Given the description of an element on the screen output the (x, y) to click on. 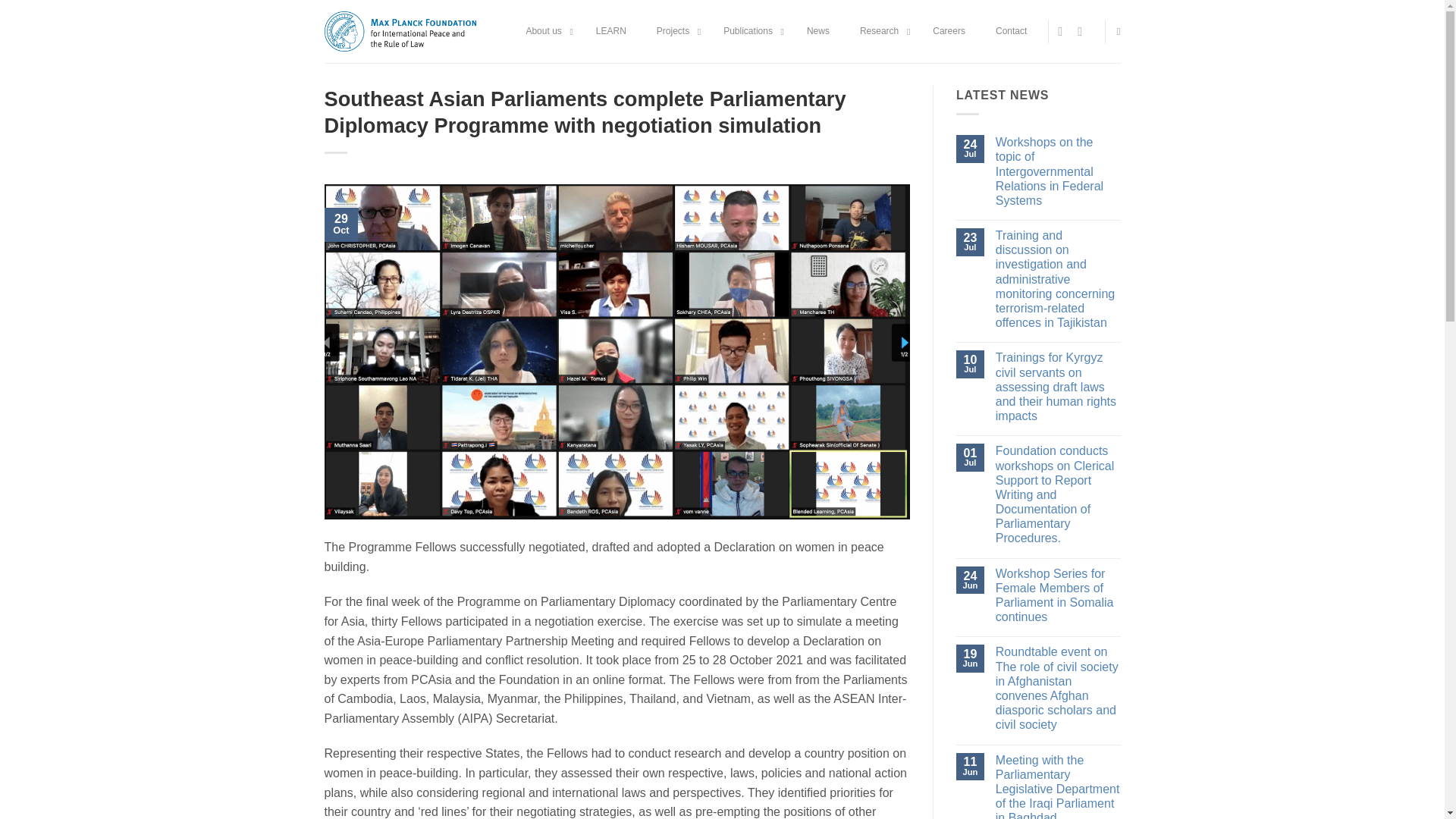
Follow on X (1064, 30)
Follow on LinkedIn (1083, 30)
Projects (674, 31)
About us (545, 31)
LEARN (611, 31)
